Given the description of an element on the screen output the (x, y) to click on. 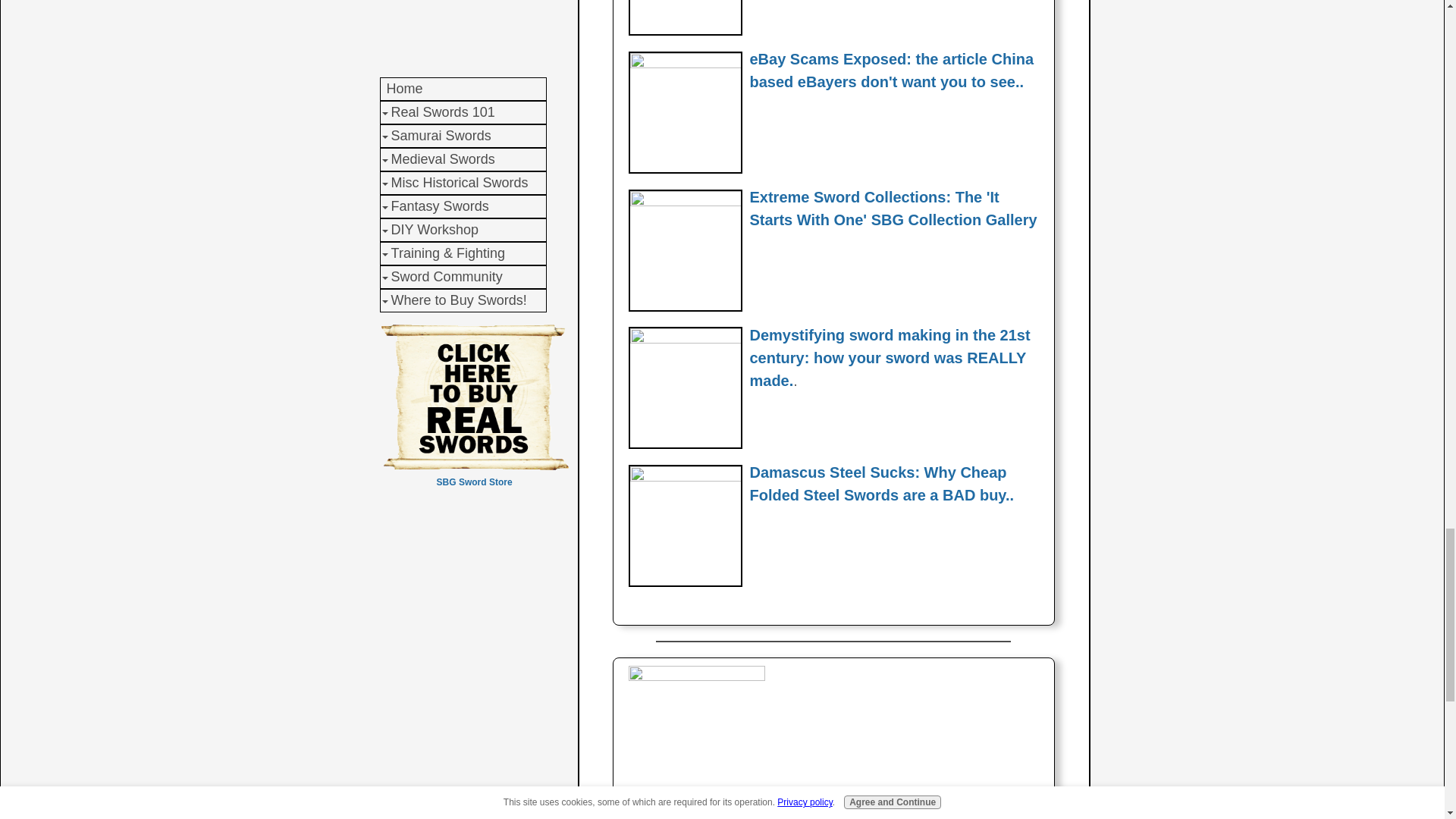
Go to Extreme Sword Collecting (684, 201)
Go to Japanese Swords For Sale on eBay (684, 63)
Go to Damascus Sucks! Don't believe the hype.. (684, 477)
Go to How Swords are Made - the Basics (684, 338)
